Given the description of an element on the screen output the (x, y) to click on. 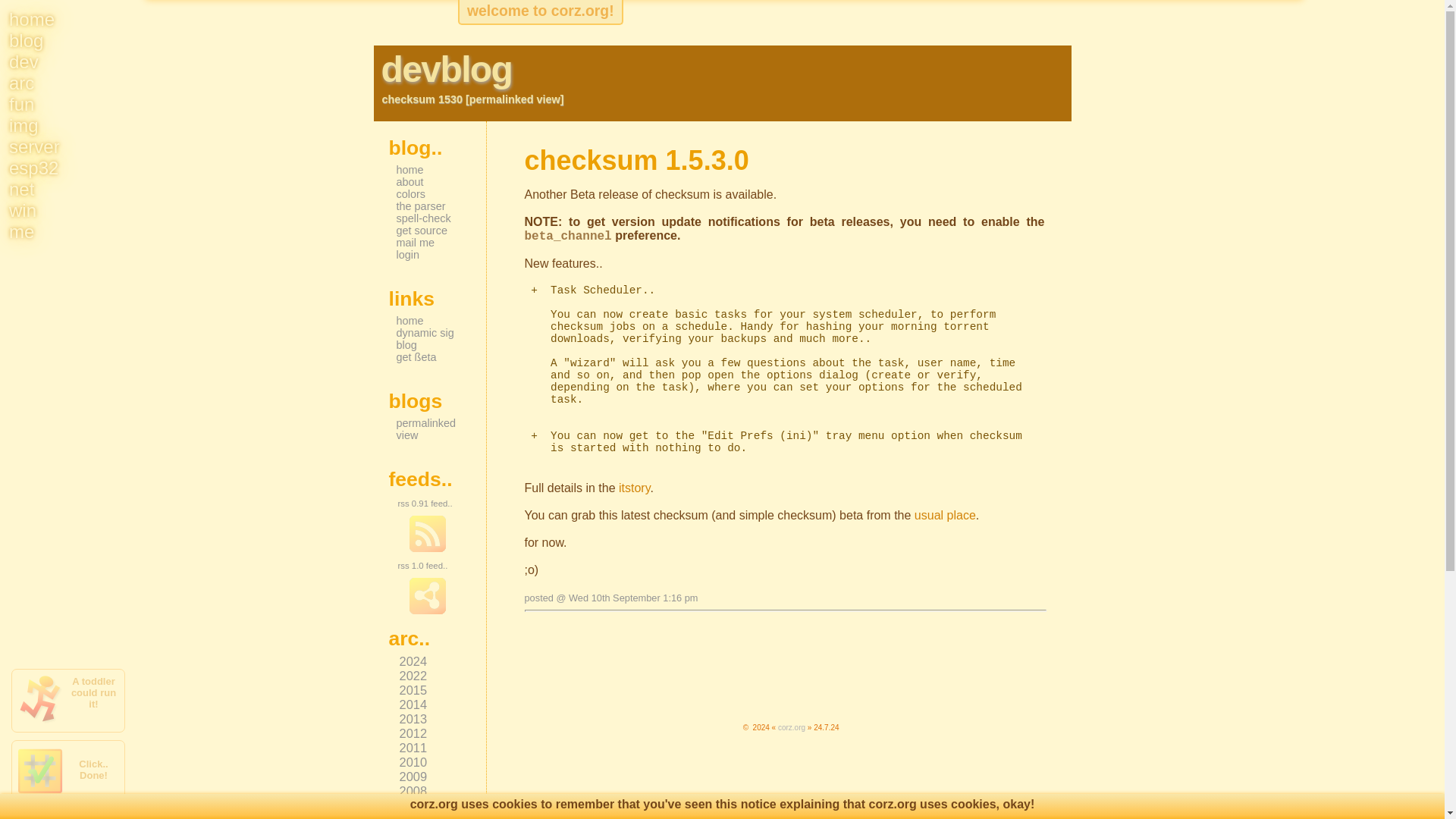
esp32 (33, 168)
the parser (420, 205)
img (23, 125)
Transformative Sketches for your ESP32 Device (33, 168)
tips, tricks, features, fixes.. it's all here (633, 487)
jump to main blog page (791, 727)
net (20, 189)
mail me (414, 242)
fun (20, 104)
server (33, 146)
The hits just keep on coming! (944, 514)
home (31, 19)
get source (421, 230)
win (22, 209)
